Given the description of an element on the screen output the (x, y) to click on. 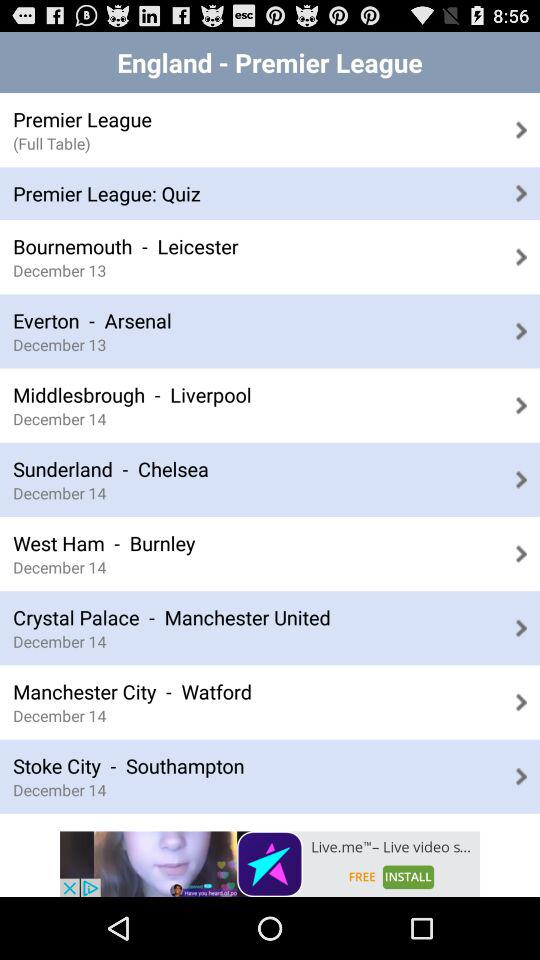
view live.me app page (270, 864)
